Given the description of an element on the screen output the (x, y) to click on. 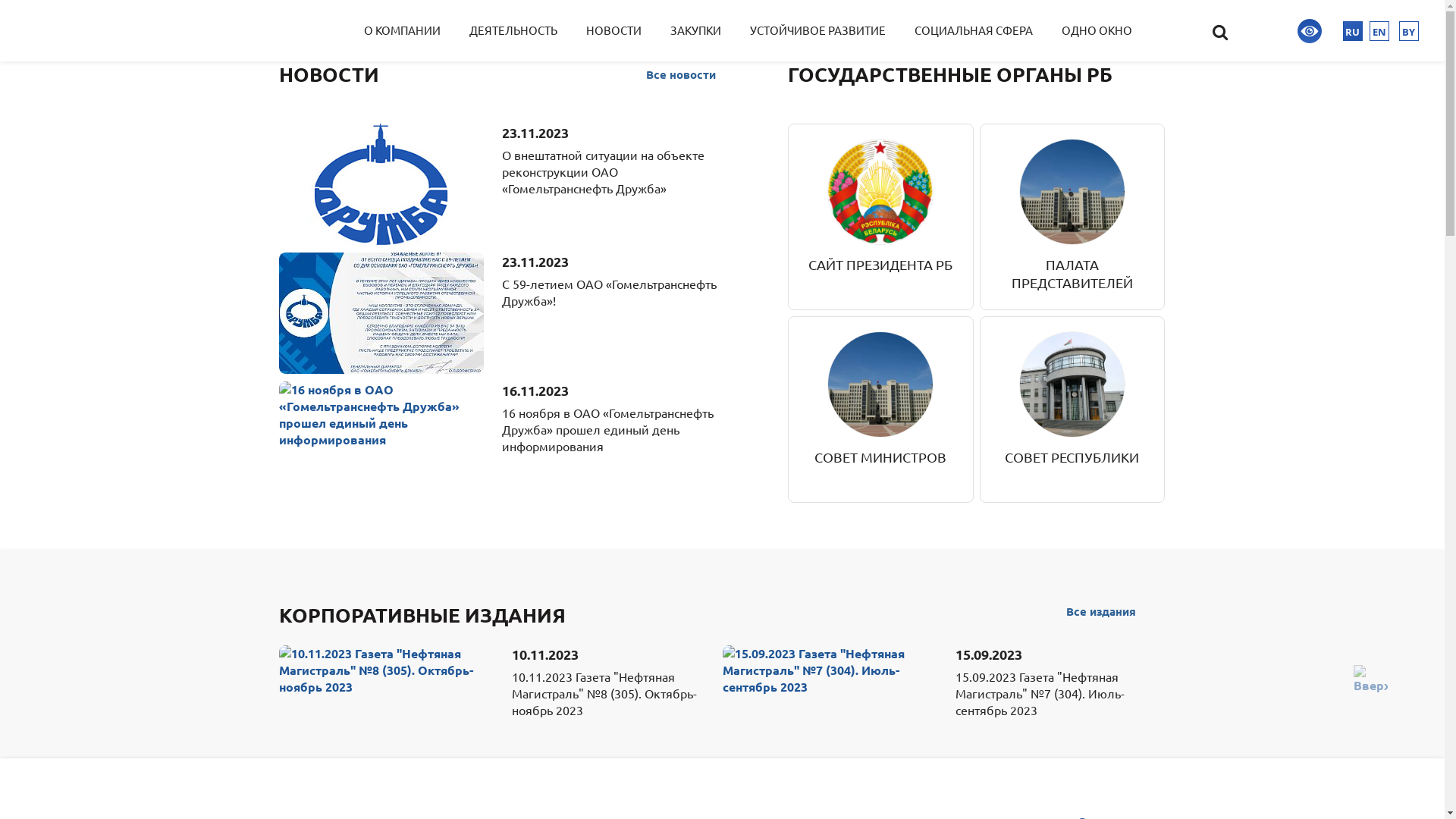
BY Element type: text (1408, 30)
RU Element type: text (1352, 30)
EN Element type: text (1379, 30)
